Given the description of an element on the screen output the (x, y) to click on. 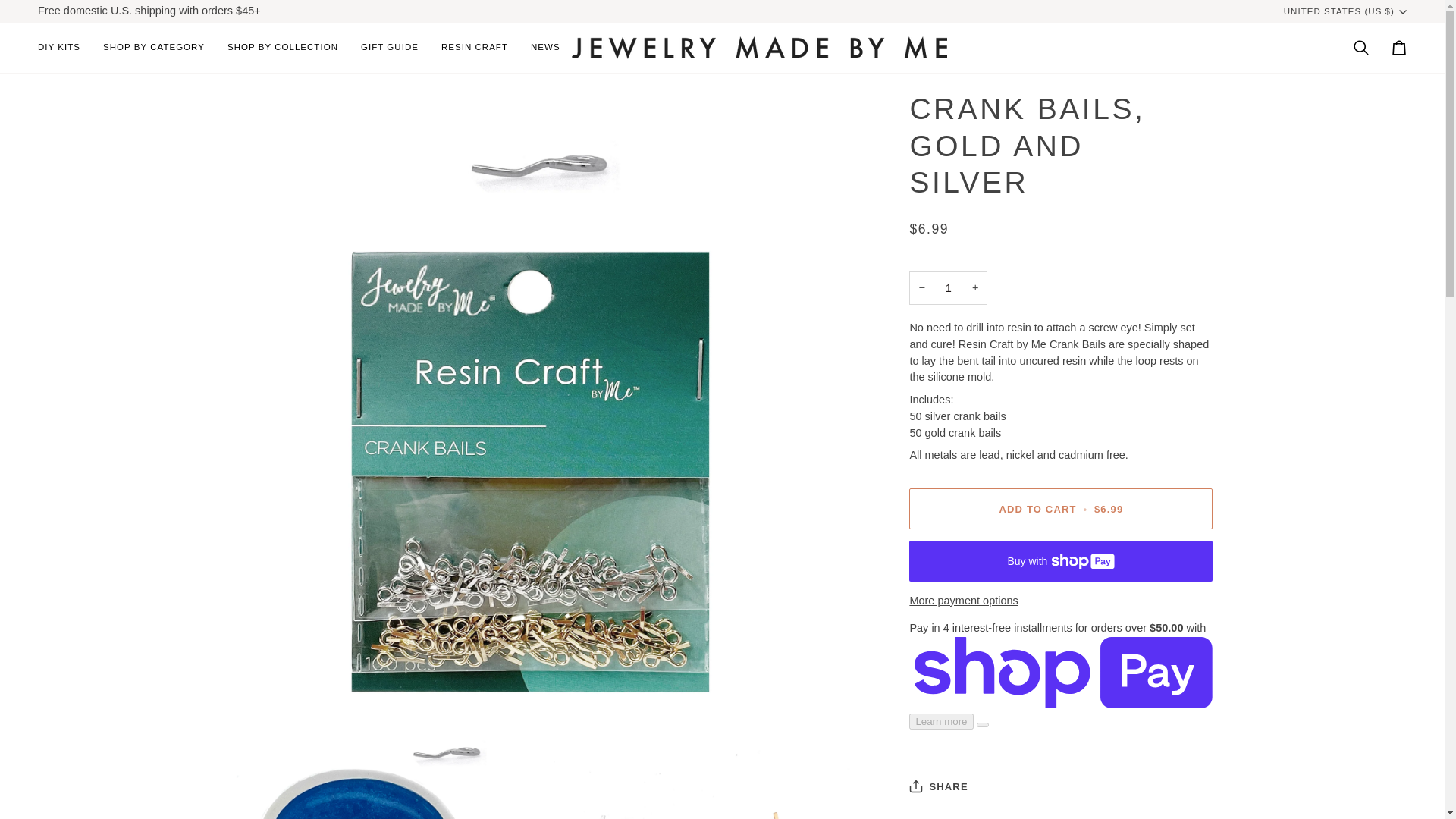
1 (947, 288)
